Given the description of an element on the screen output the (x, y) to click on. 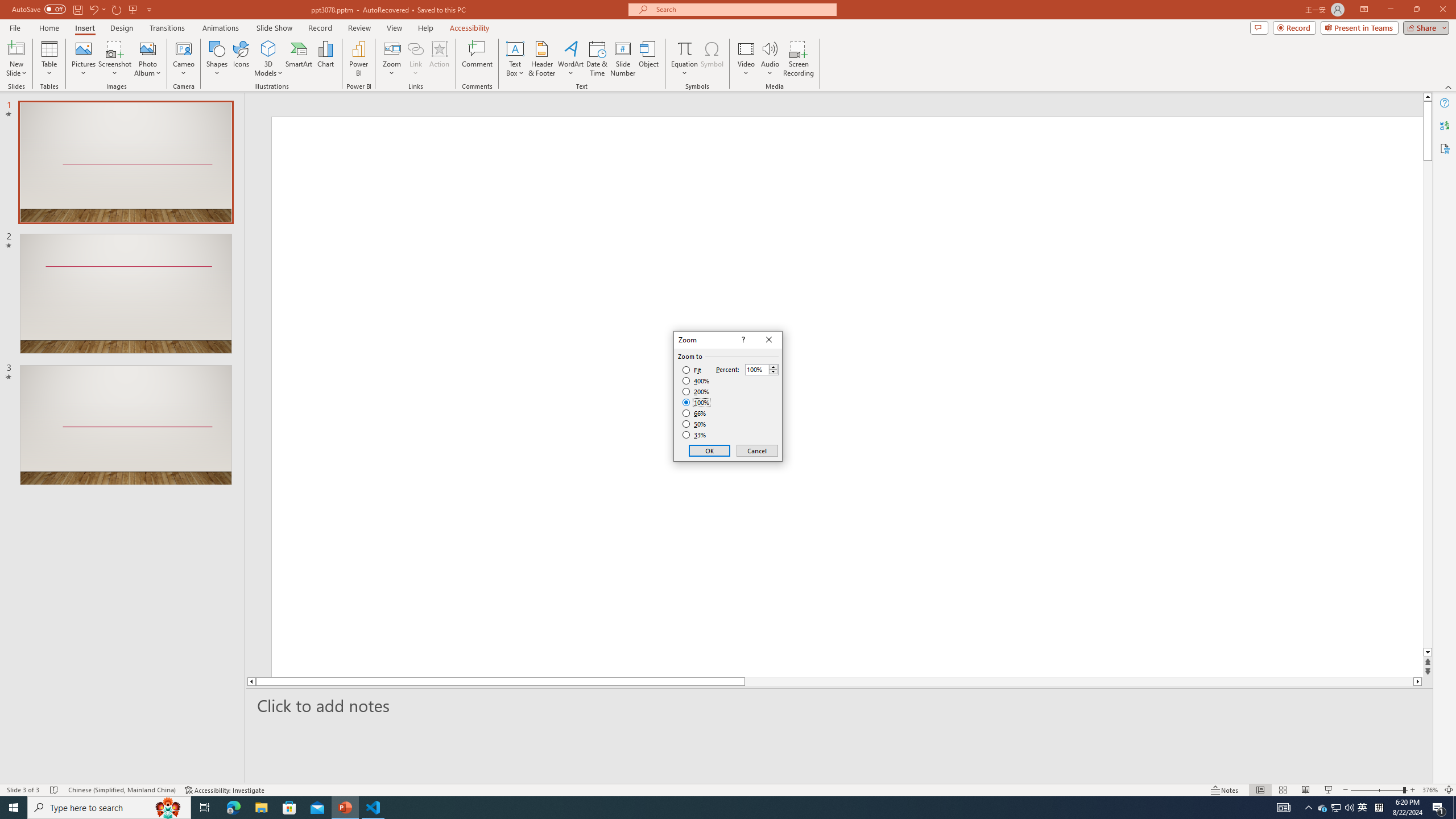
Fit (691, 370)
Draw Horizontal Text Box (515, 48)
